Given the description of an element on the screen output the (x, y) to click on. 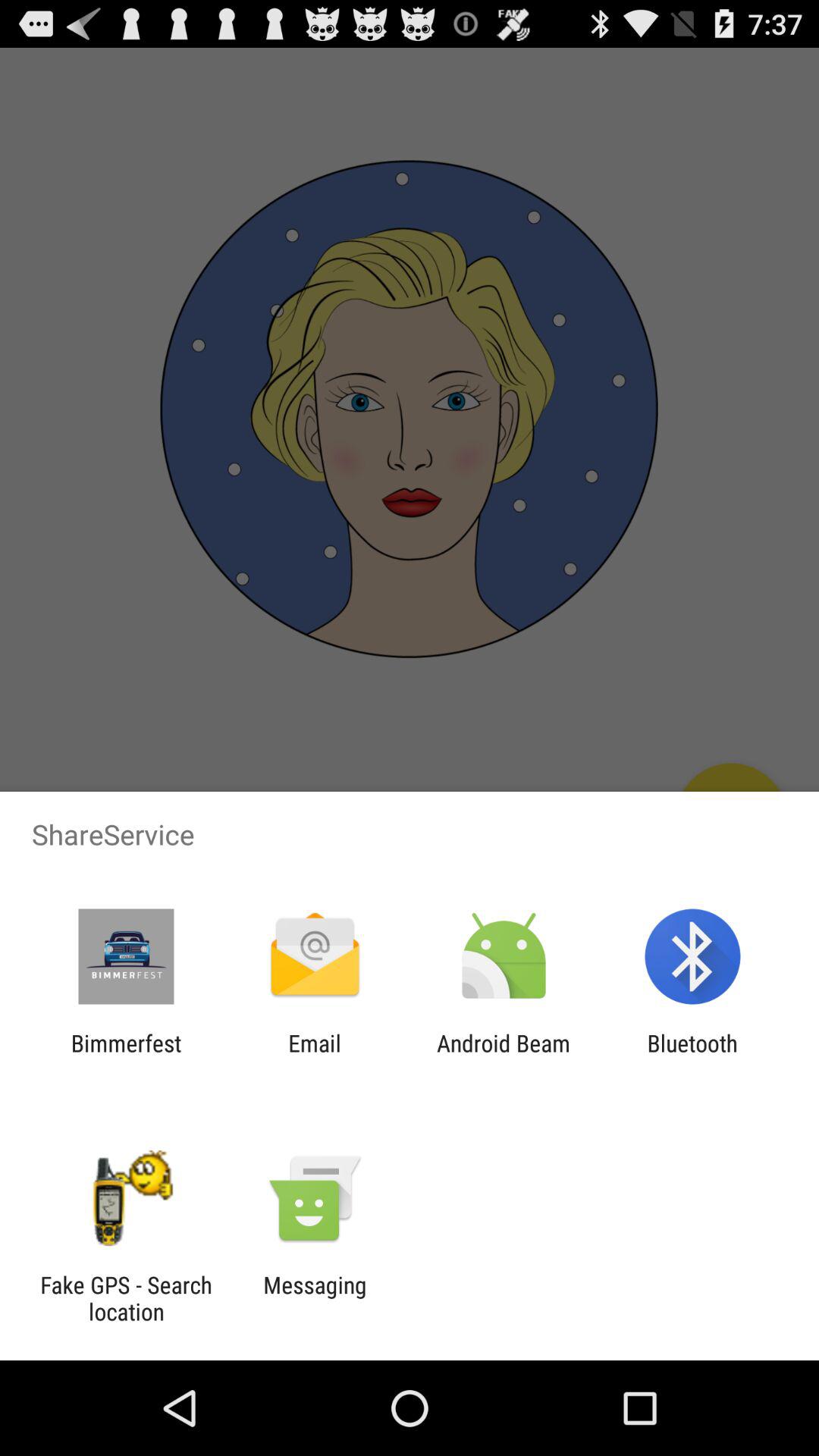
turn off the icon to the right of android beam item (692, 1056)
